Given the description of an element on the screen output the (x, y) to click on. 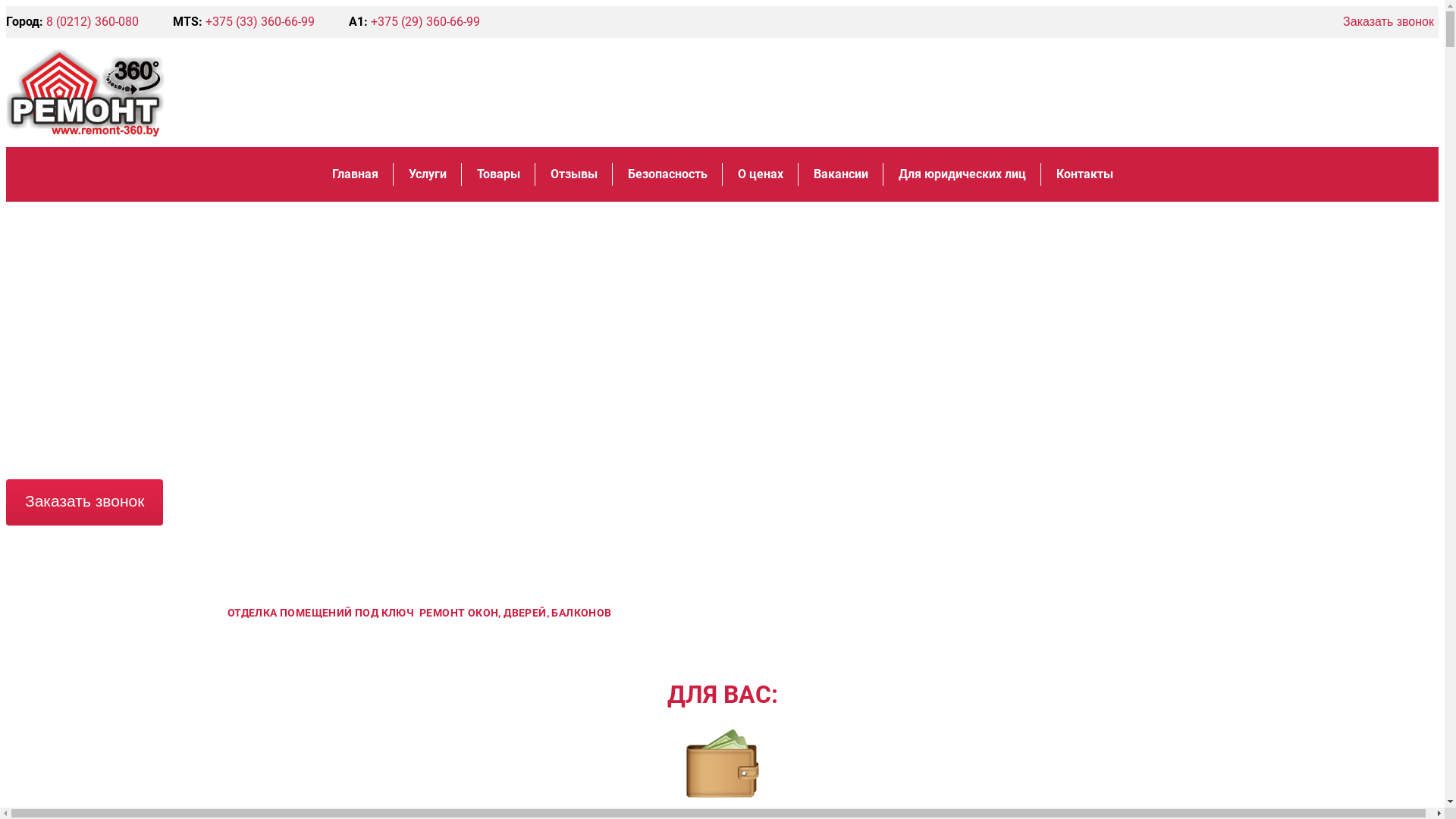
8 (0212) 360-080 Element type: text (92, 21)
+375 (29) 360-66-99 Element type: text (425, 21)
+375 (33) 360-66-99 Element type: text (259, 21)
